Given the description of an element on the screen output the (x, y) to click on. 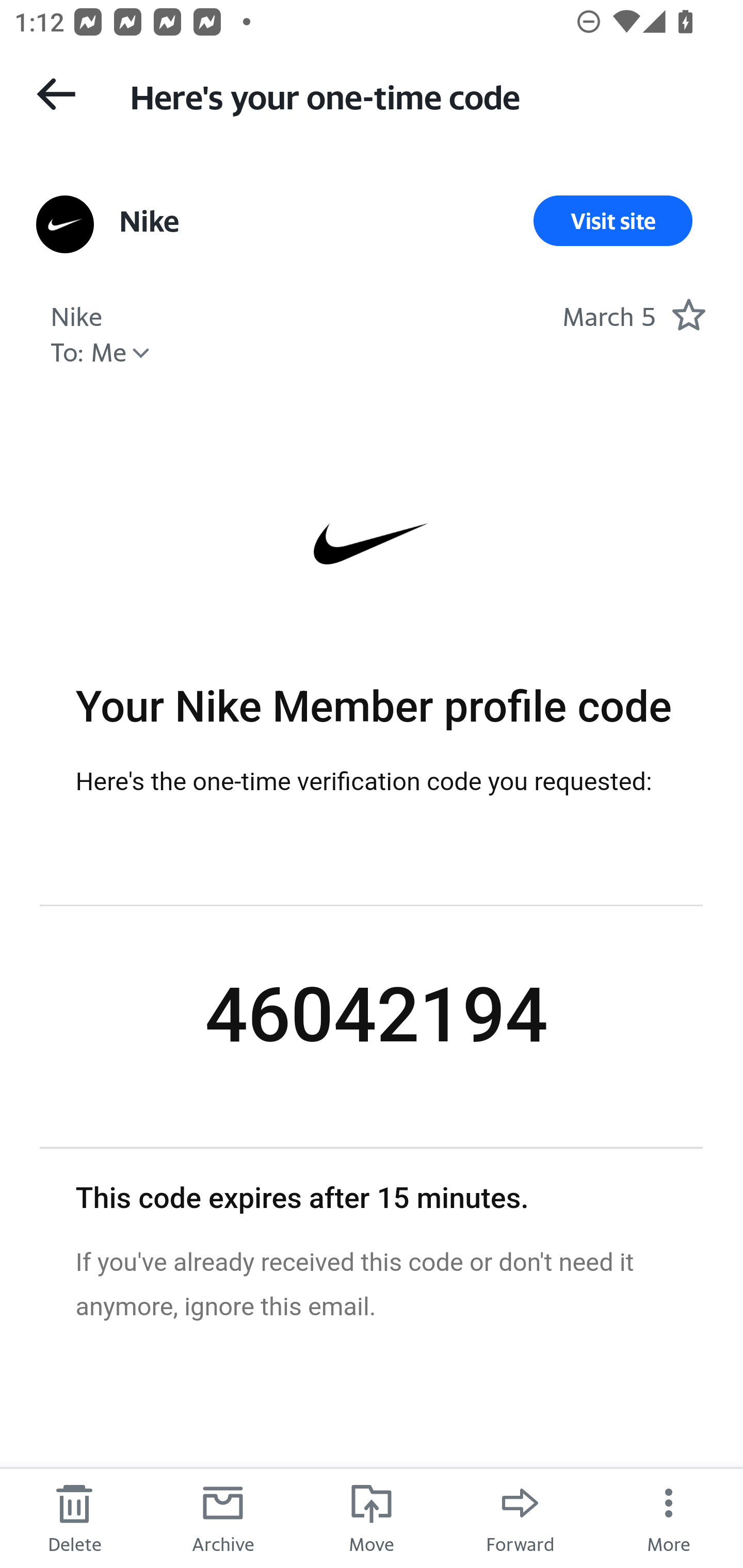
Back (55, 93)
Here's your one-time code (418, 94)
View all messages from sender (64, 225)
Visit site Visit Site Link (612, 221)
Nike Sender Nike (148, 220)
Nike Sender Nike (76, 314)
Mark as starred. (688, 314)
image (371, 543)
Delete (74, 1517)
Archive (222, 1517)
Move (371, 1517)
Forward (519, 1517)
More (668, 1517)
